Given the description of an element on the screen output the (x, y) to click on. 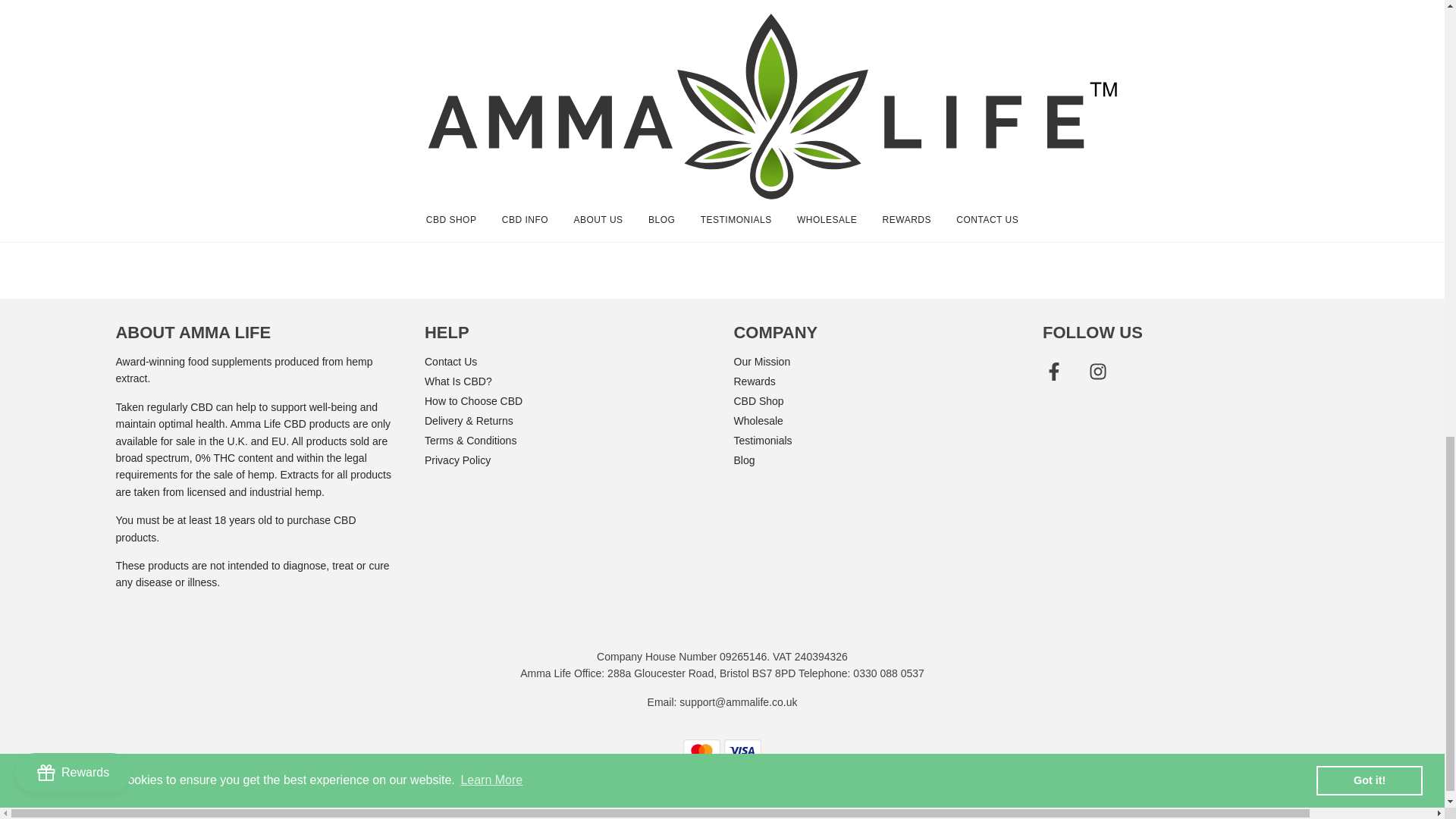
Create your own online store with Shopify (773, 780)
